Given the description of an element on the screen output the (x, y) to click on. 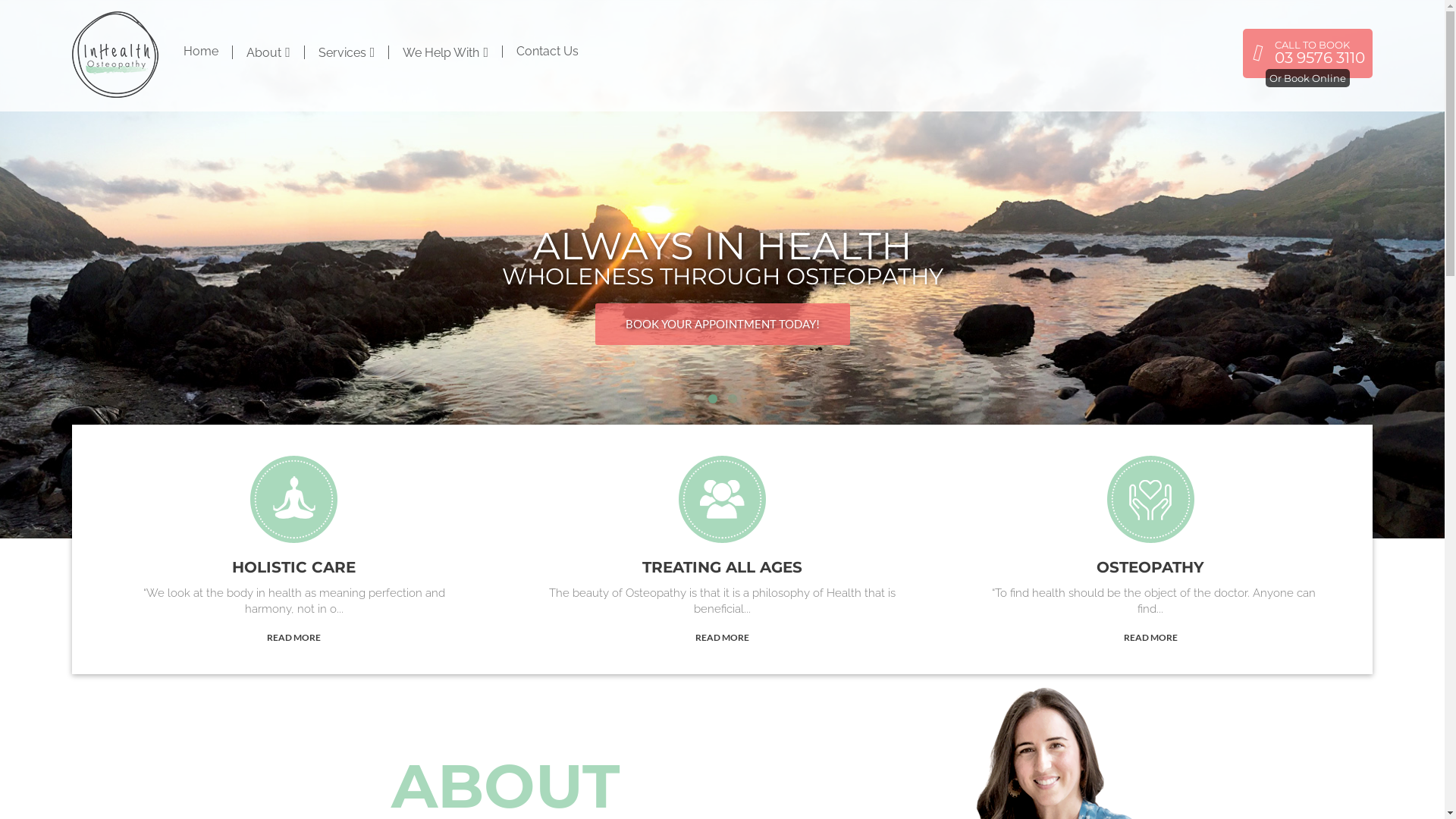
About Element type: text (268, 52)
Contact Us Element type: text (547, 51)
BOOK YOUR APPOINTMENT TODAY! Element type: text (721, 324)
READ MORE Element type: text (722, 637)
Or Book Online Element type: text (1307, 78)
Services Element type: text (346, 52)
We Help With Element type: text (445, 52)
READ MORE Element type: text (293, 637)
READ MORE Element type: text (1150, 637)
Home Element type: text (200, 51)
CALL TO BOOK
03 9576 3110 Element type: text (1307, 53)
